Given the description of an element on the screen output the (x, y) to click on. 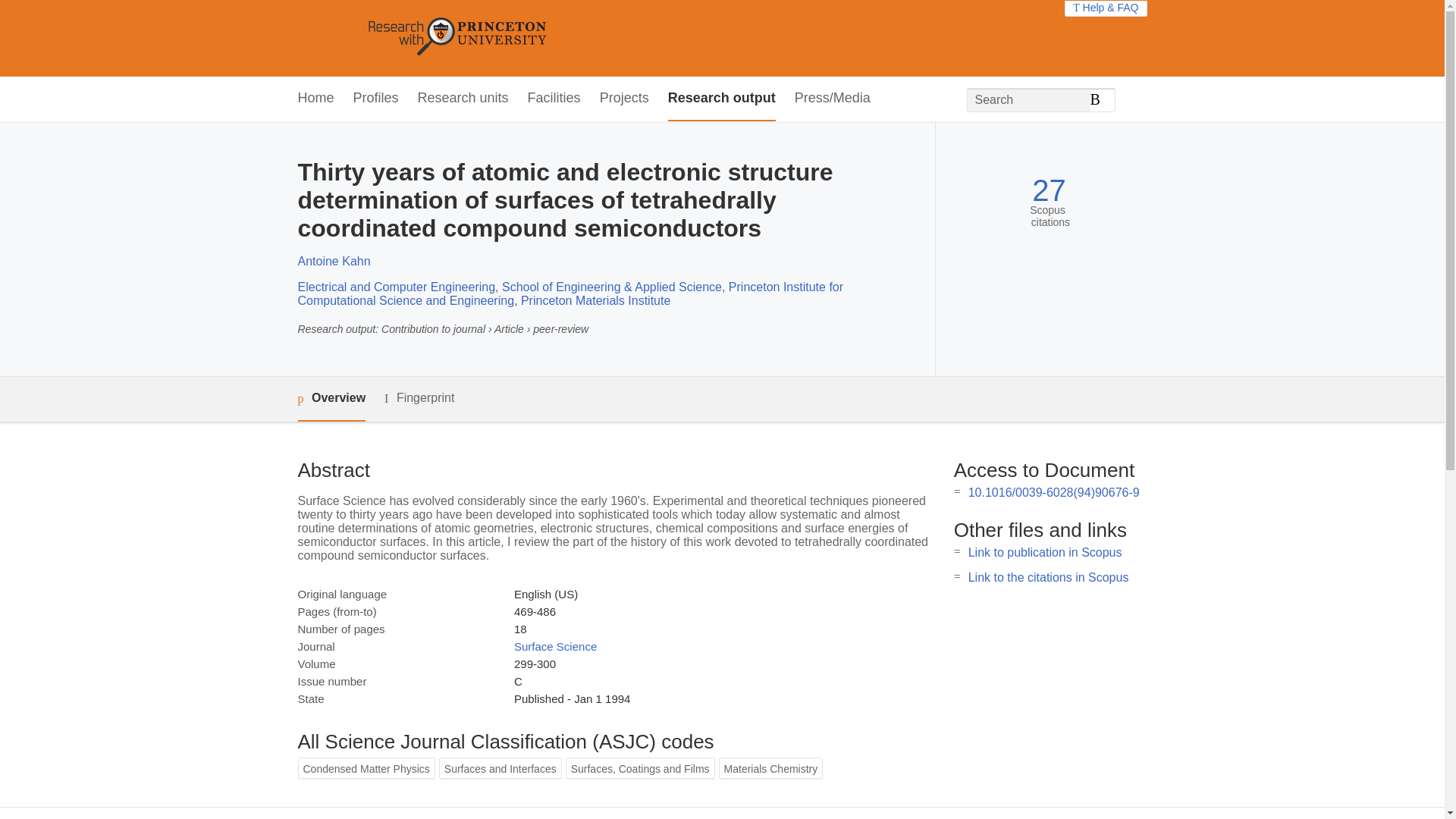
Profiles (375, 98)
Facilities (553, 98)
Link to the citations in Scopus (1048, 576)
Research output (722, 98)
Research units (462, 98)
Electrical and Computer Engineering (396, 286)
Link to publication in Scopus (1045, 552)
Surface Science (554, 645)
Fingerprint (419, 398)
